Given the description of an element on the screen output the (x, y) to click on. 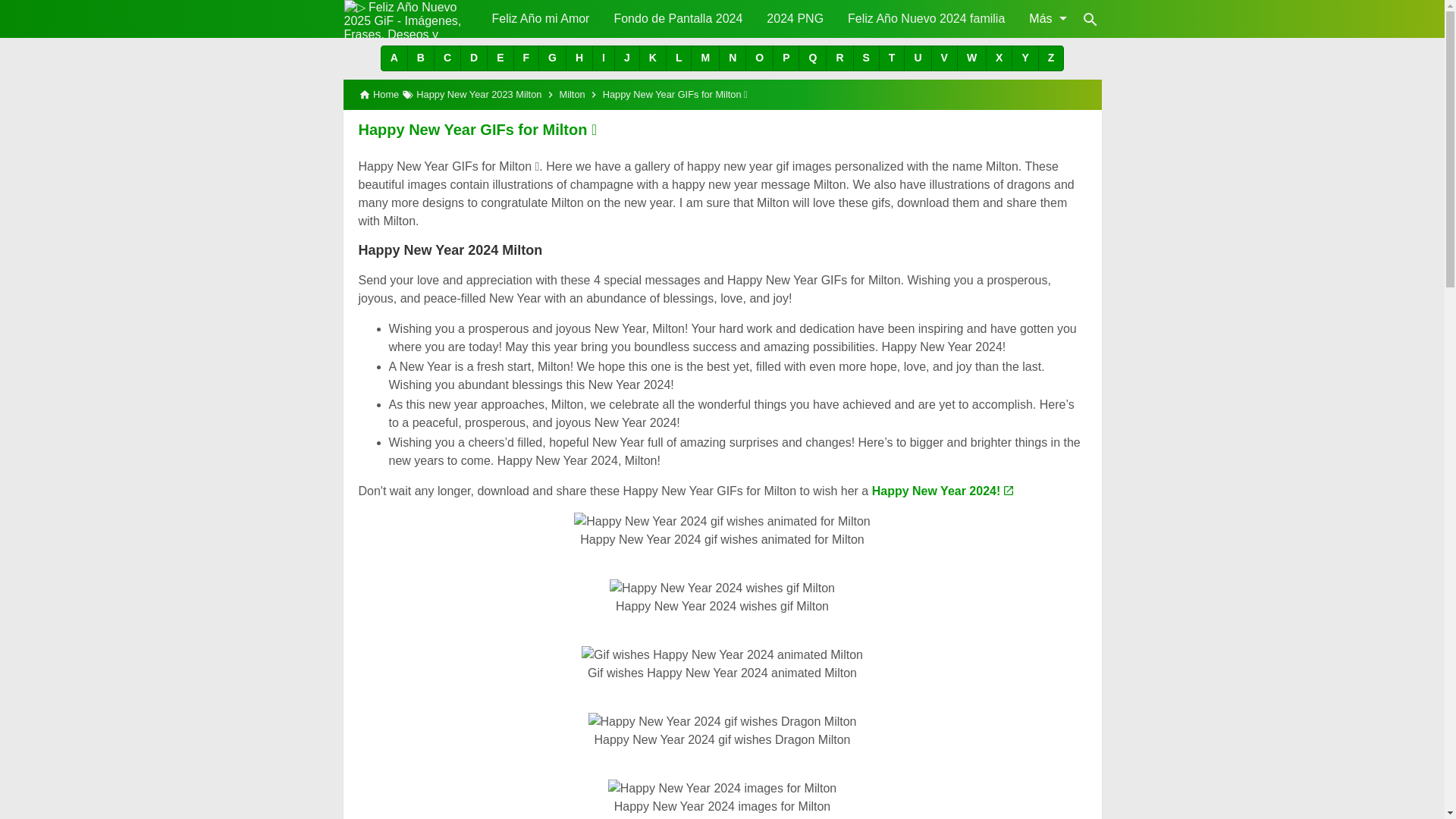
Fondo de Pantalla 2024 (677, 18)
M (704, 58)
S (865, 58)
C (447, 58)
T (892, 58)
A (393, 58)
W (971, 58)
X (998, 58)
B (420, 58)
N (732, 58)
